Given the description of an element on the screen output the (x, y) to click on. 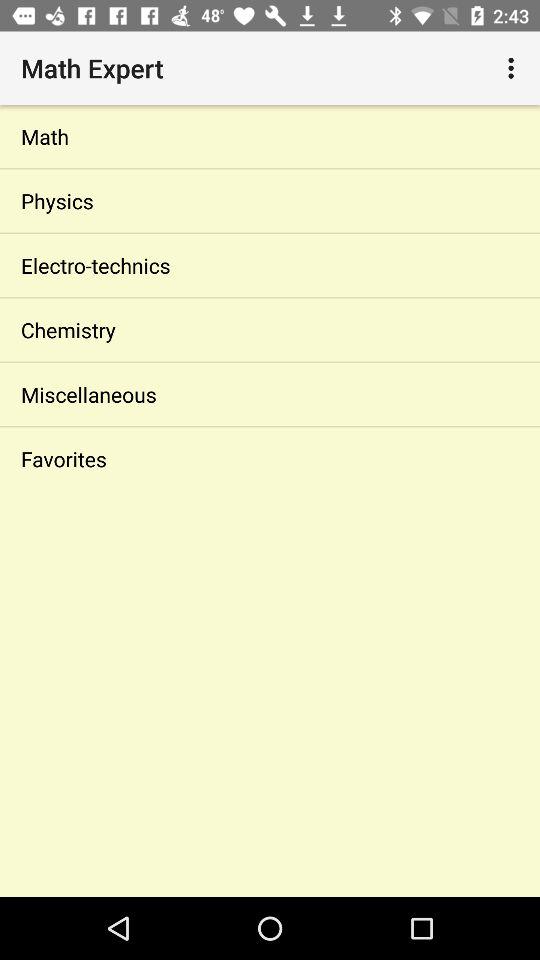
open the item next to math expert app (513, 67)
